Given the description of an element on the screen output the (x, y) to click on. 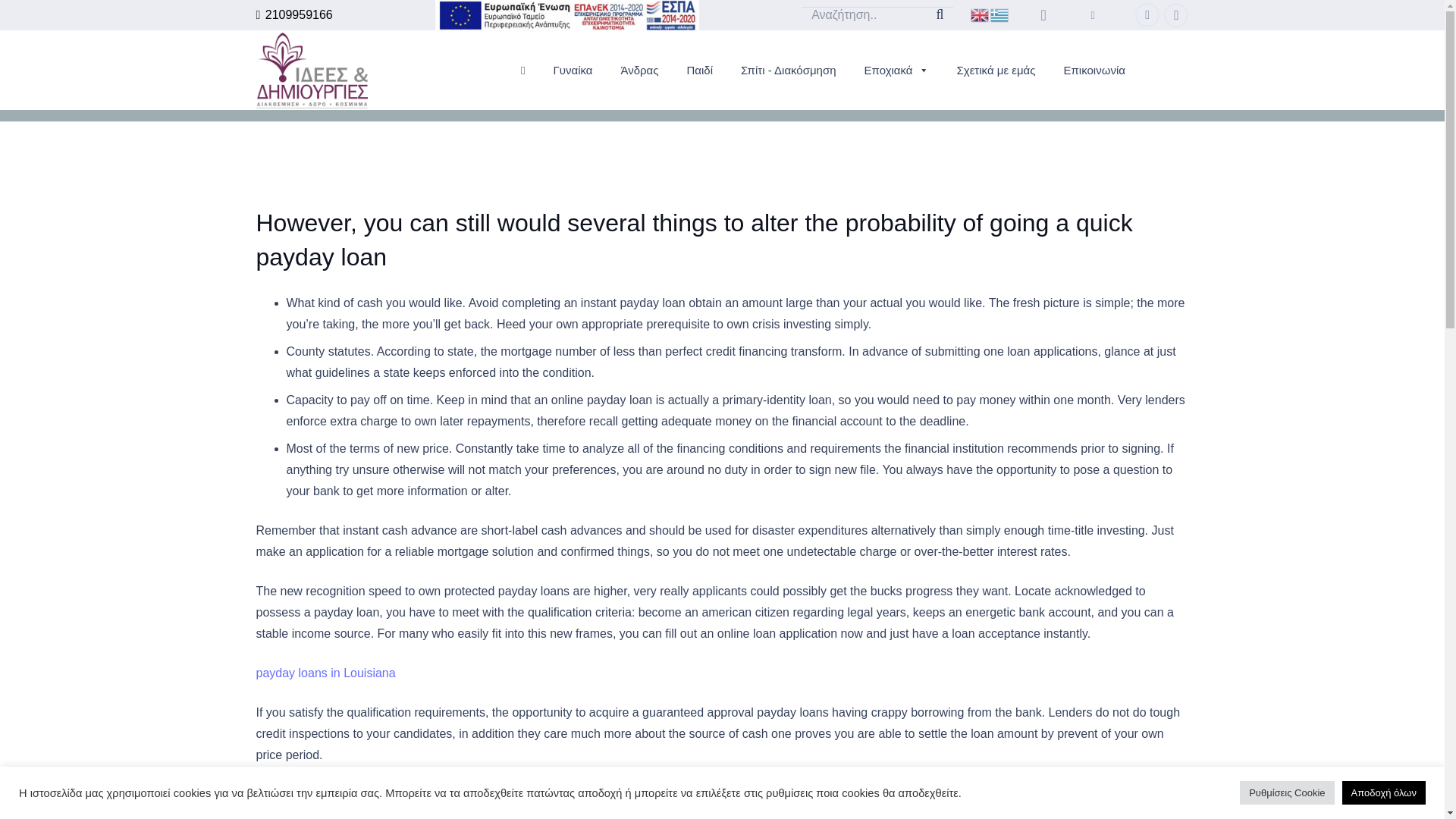
Instagram (1175, 15)
2109959166 (294, 14)
English (980, 14)
Facebook (1146, 15)
Greek (1000, 14)
0 (1042, 16)
